Given the description of an element on the screen output the (x, y) to click on. 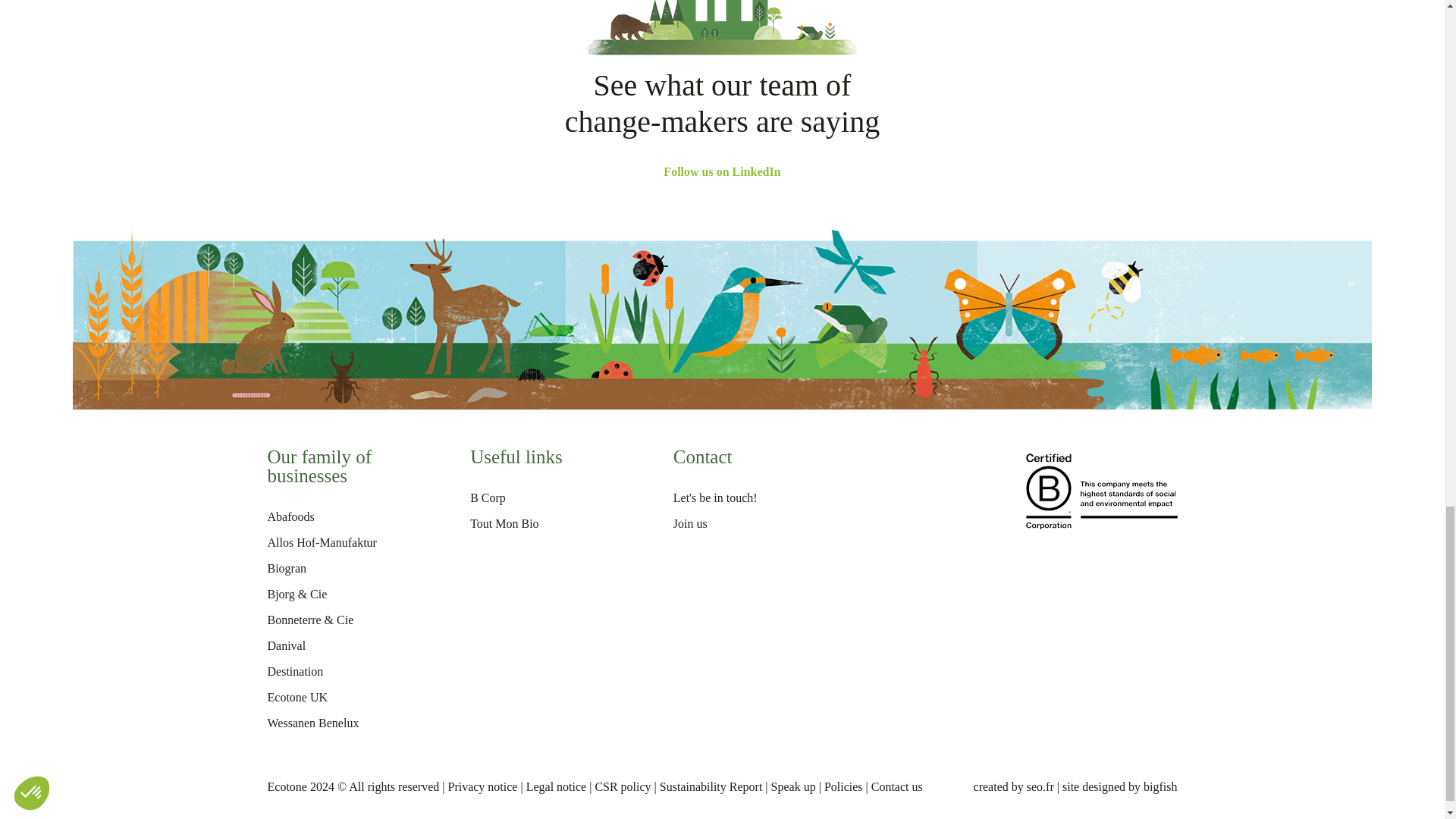
Follow us on LinkedIn (721, 171)
Tout Mon Bio (504, 522)
B Corp (487, 497)
Join us (689, 522)
Ecotone UK (296, 697)
Abafoods (290, 516)
Let's be in touch! (714, 497)
Allos Hof-Manufaktur (320, 542)
Biogran (285, 567)
Danival (285, 645)
Destination (294, 671)
Wessanen Benelux (312, 722)
